Given the description of an element on the screen output the (x, y) to click on. 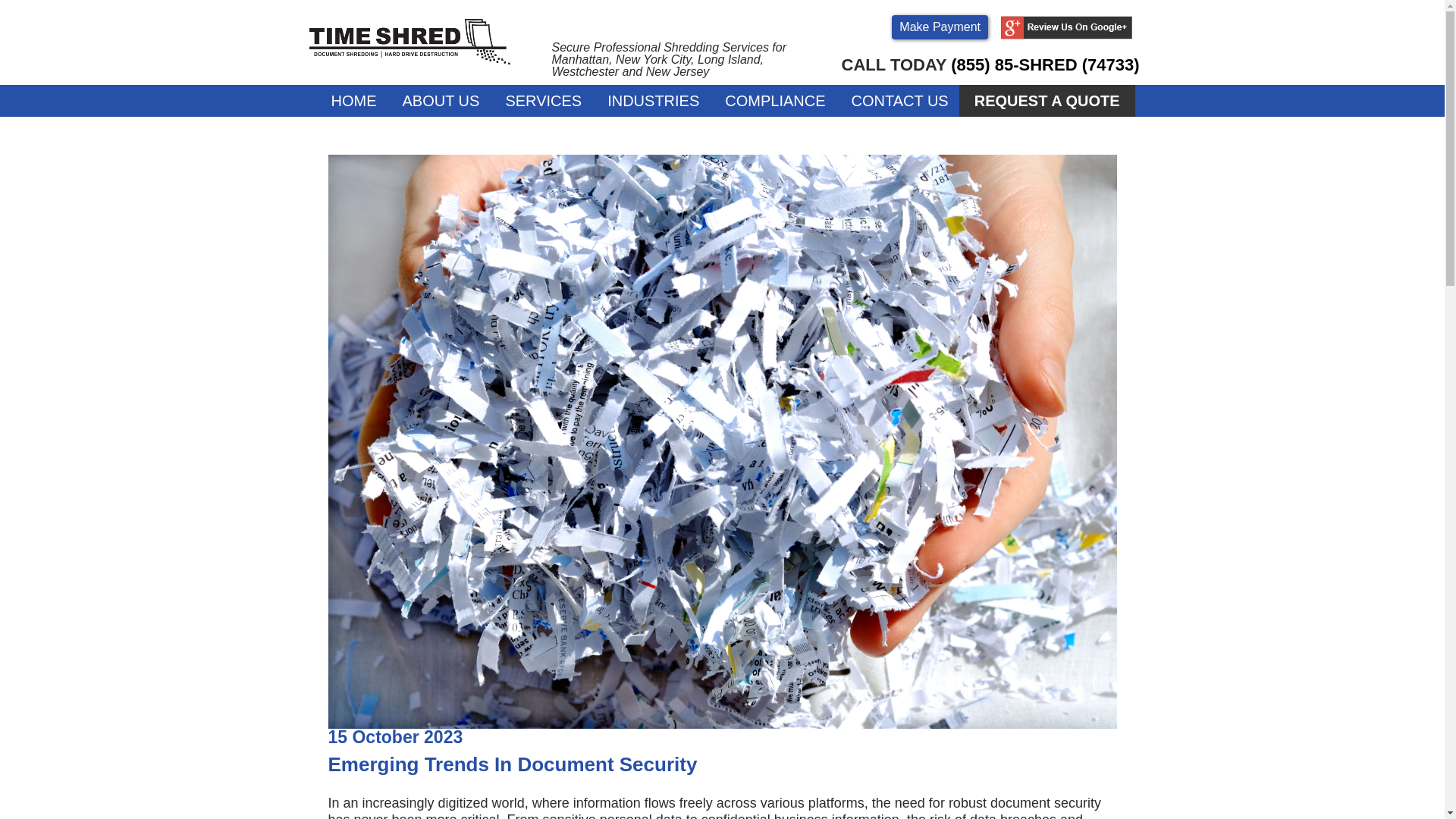
INDUSTRIES (653, 101)
COMPLIANCE (775, 101)
ABOUT US (441, 101)
Make Payment (939, 27)
Make Payment (939, 27)
CONTACT US (899, 101)
REQUEST A QUOTE (1047, 101)
Leave a Google Review (1066, 34)
SERVICES (542, 101)
HOME (353, 101)
